Given the description of an element on the screen output the (x, y) to click on. 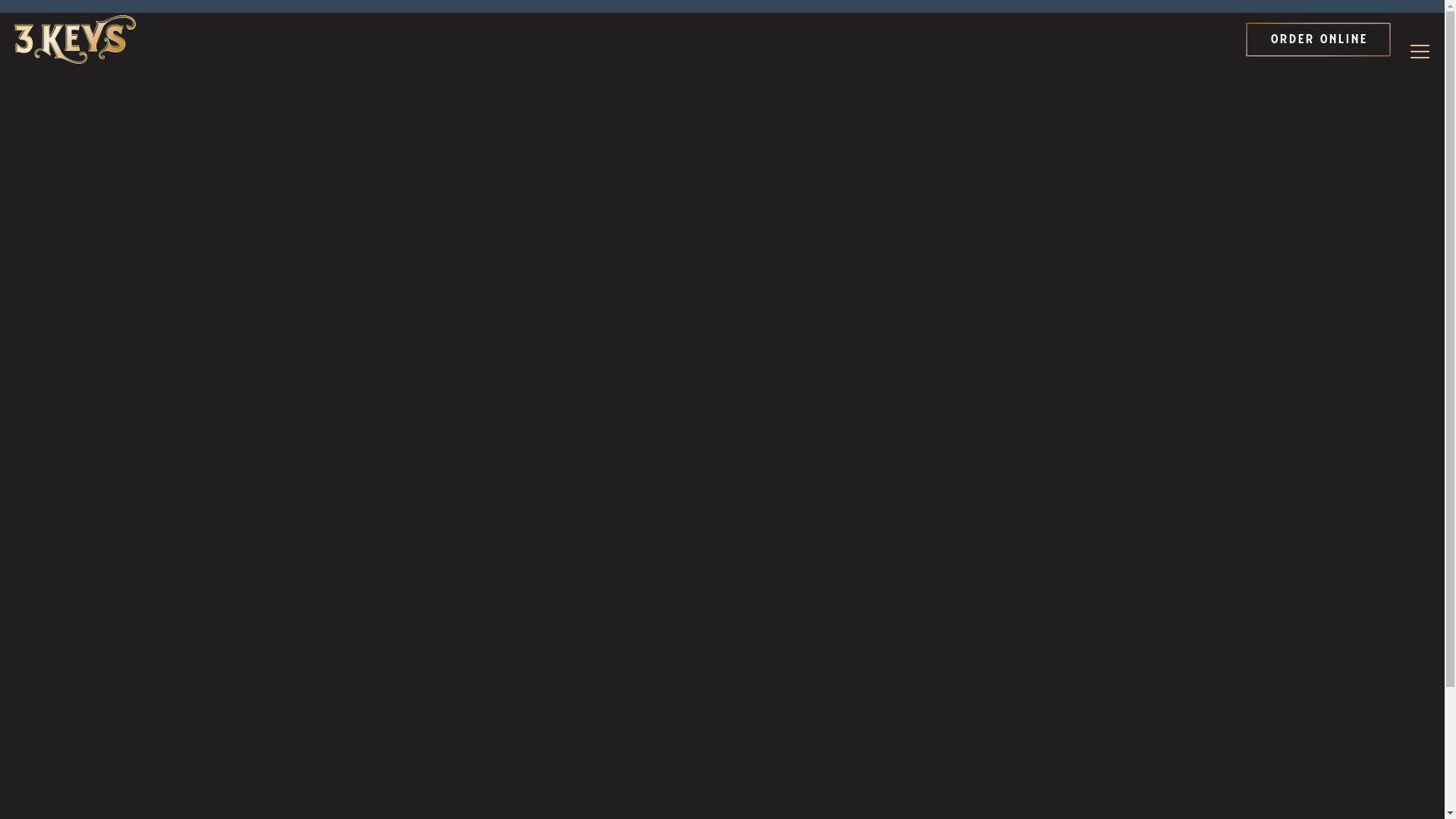
Toggle Navigation Element type: text (1419, 51)
ORDER ONLINE Element type: text (1318, 39)
